Given the description of an element on the screen output the (x, y) to click on. 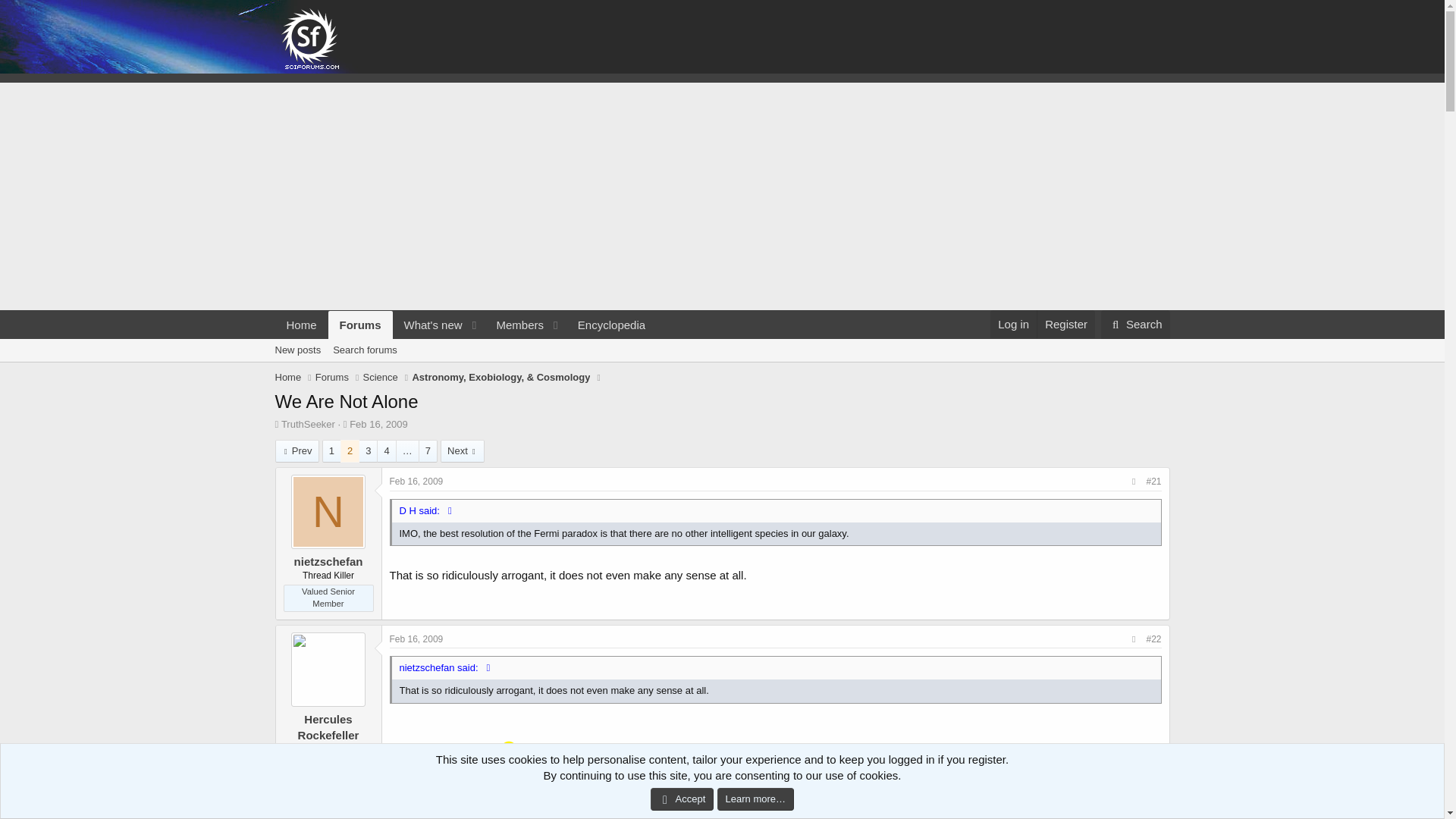
Encyclopedia (611, 325)
Feb 16, 2009 (378, 423)
TruthSeeker (307, 423)
Log in (1013, 324)
Science (379, 377)
Feb 16, 2009 at 3:14 AM (378, 423)
Members (514, 325)
Search (1135, 324)
Prev (296, 450)
Forums (332, 377)
